Given the description of an element on the screen output the (x, y) to click on. 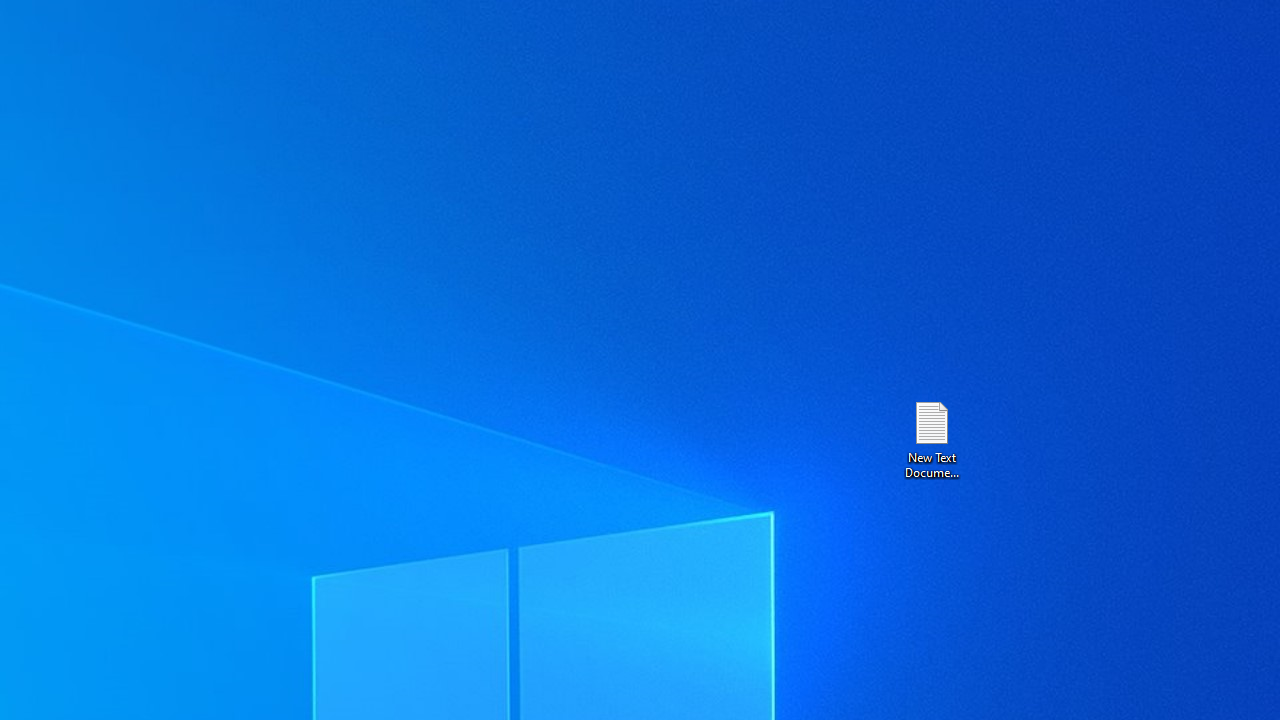
New Text Document (2) (931, 438)
